Given the description of an element on the screen output the (x, y) to click on. 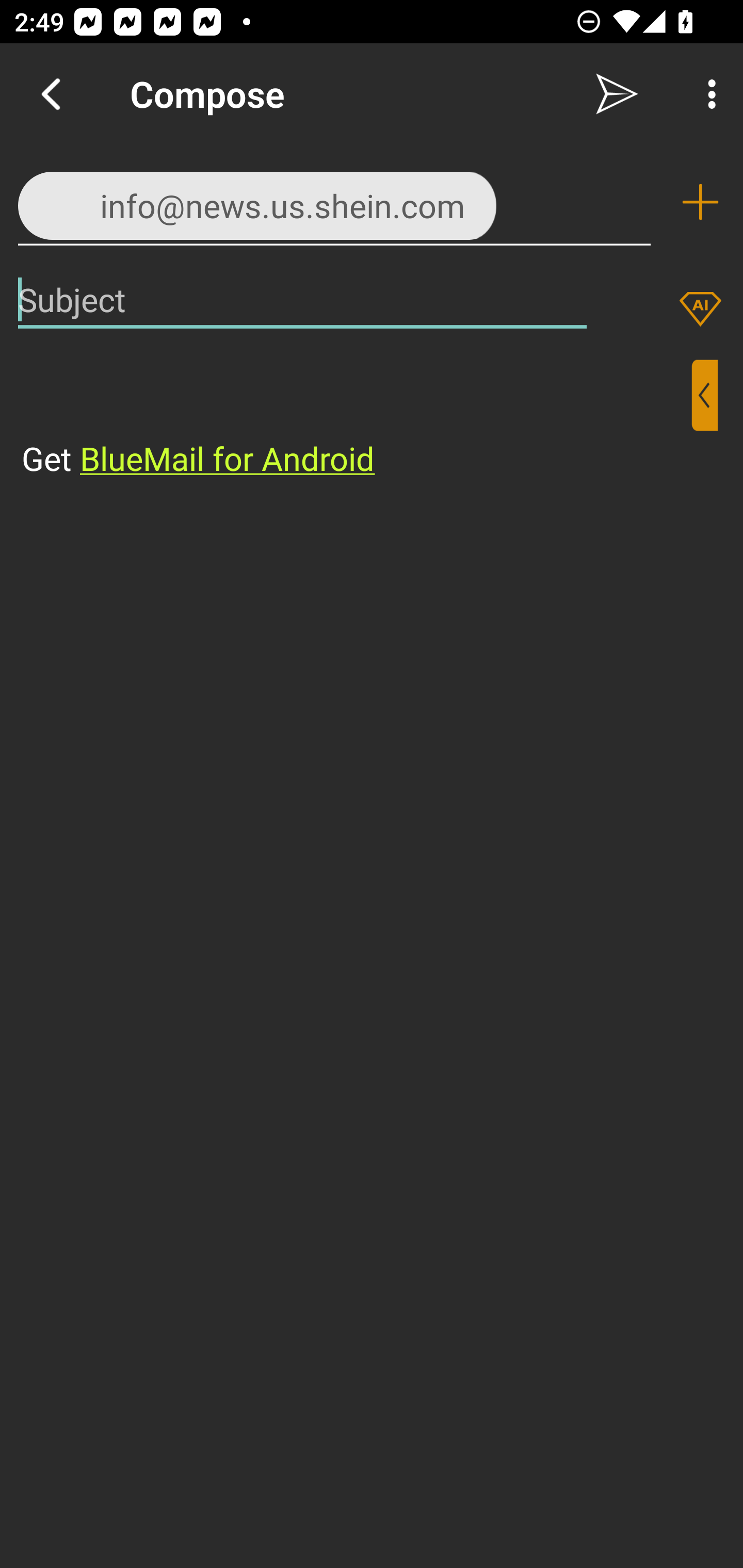
Navigate up (50, 93)
Send (616, 93)
More Options (706, 93)
<info@news.us.shein.com>,  (334, 201)
Add recipient (To) (699, 201)
Subject (302, 299)


⁣Get BlueMail for Android ​ (355, 419)
